Given the description of an element on the screen output the (x, y) to click on. 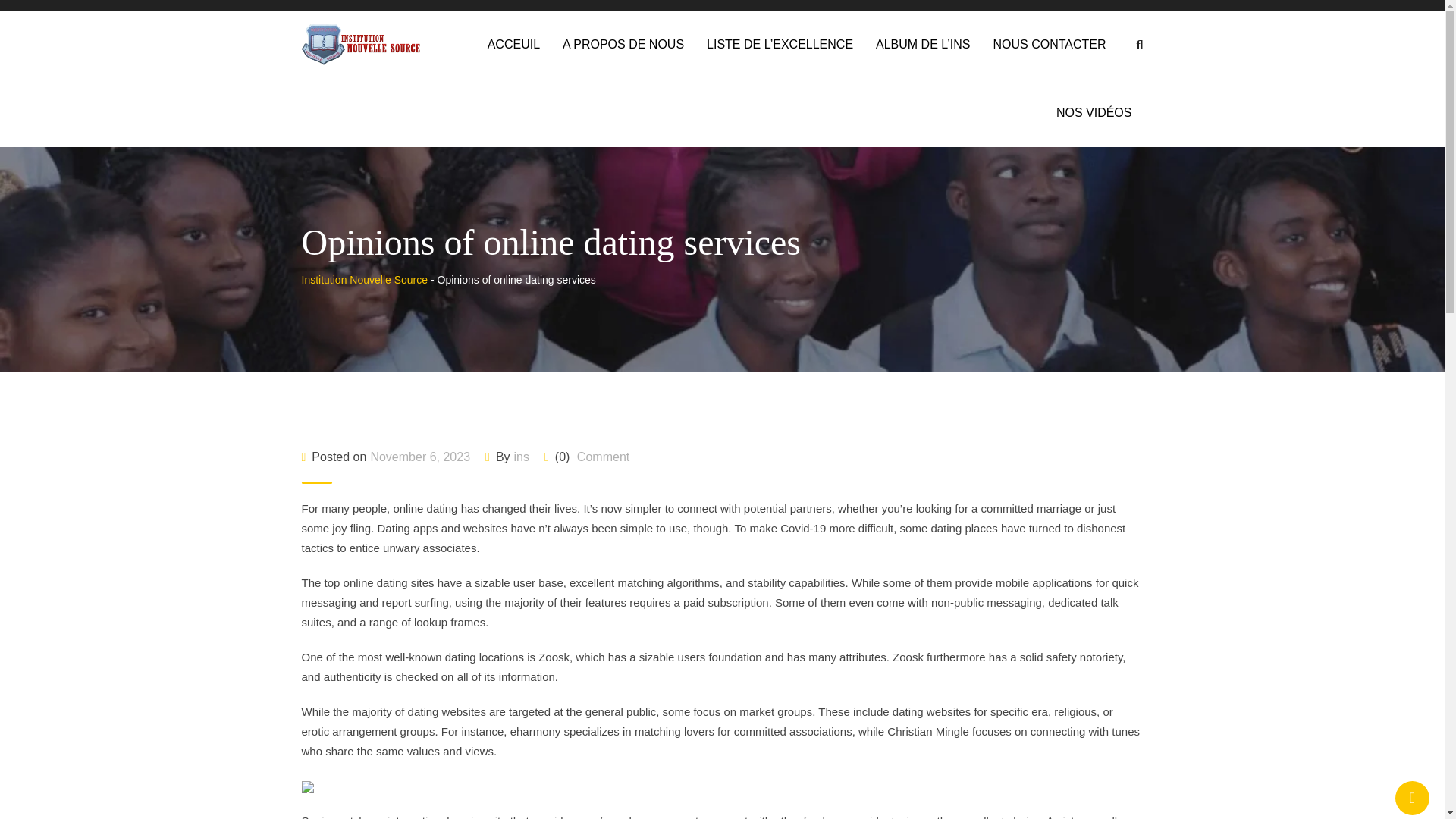
Posts by ins (521, 456)
Go to Institution Nouvelle Source. (364, 279)
A PROPOS DE NOUS (623, 44)
ACCEUIL (513, 44)
NOUS CONTACTER (1049, 44)
